Given the description of an element on the screen output the (x, y) to click on. 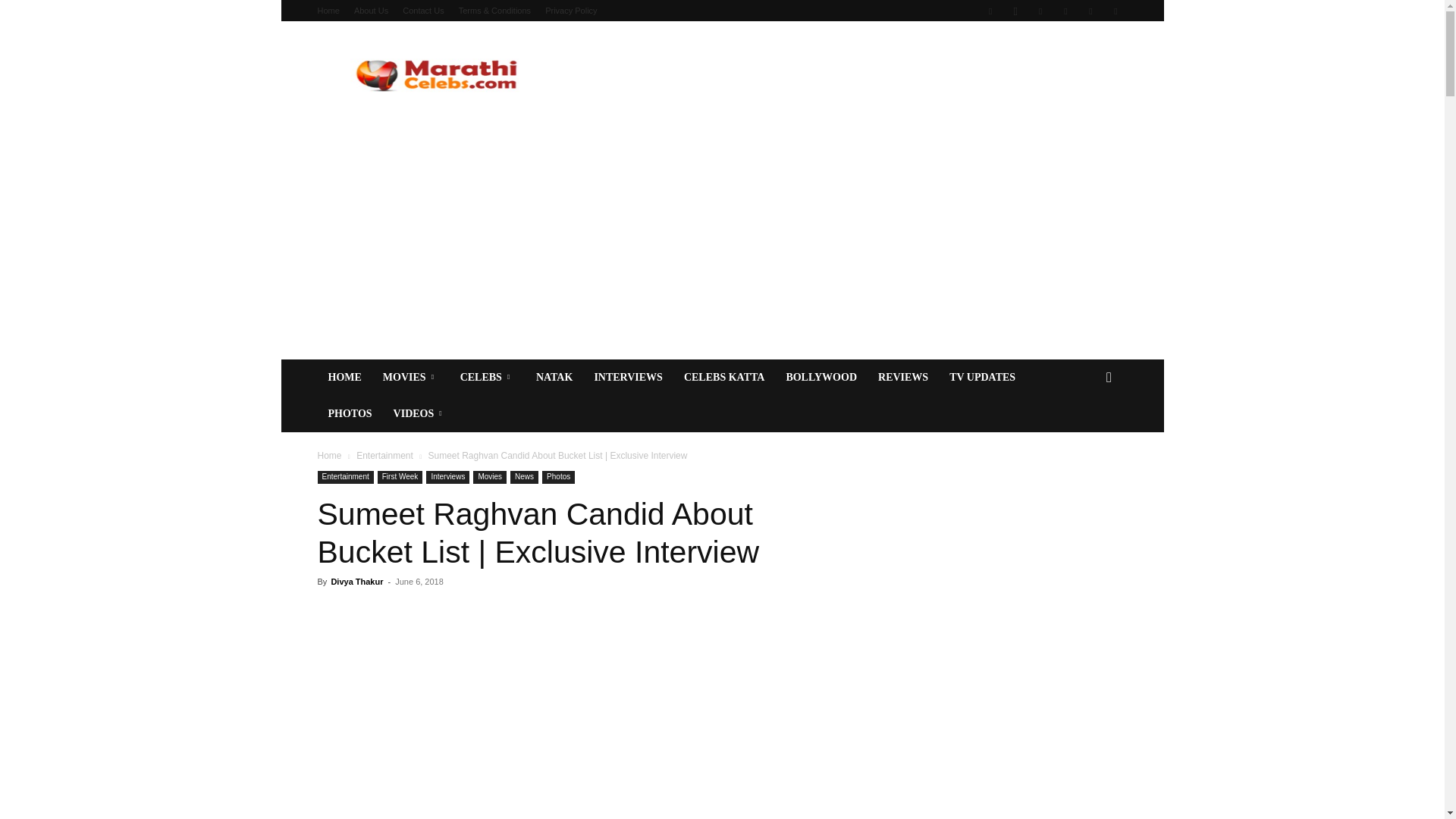
Home (328, 10)
About Us (370, 10)
Youtube (1114, 10)
Interesting Entertainment Updates (445, 76)
Privacy Policy (570, 10)
Telegram (1040, 10)
Twitter (1090, 10)
Tumblr (1065, 10)
Instagram (1015, 10)
Contact Us (423, 10)
